Given the description of an element on the screen output the (x, y) to click on. 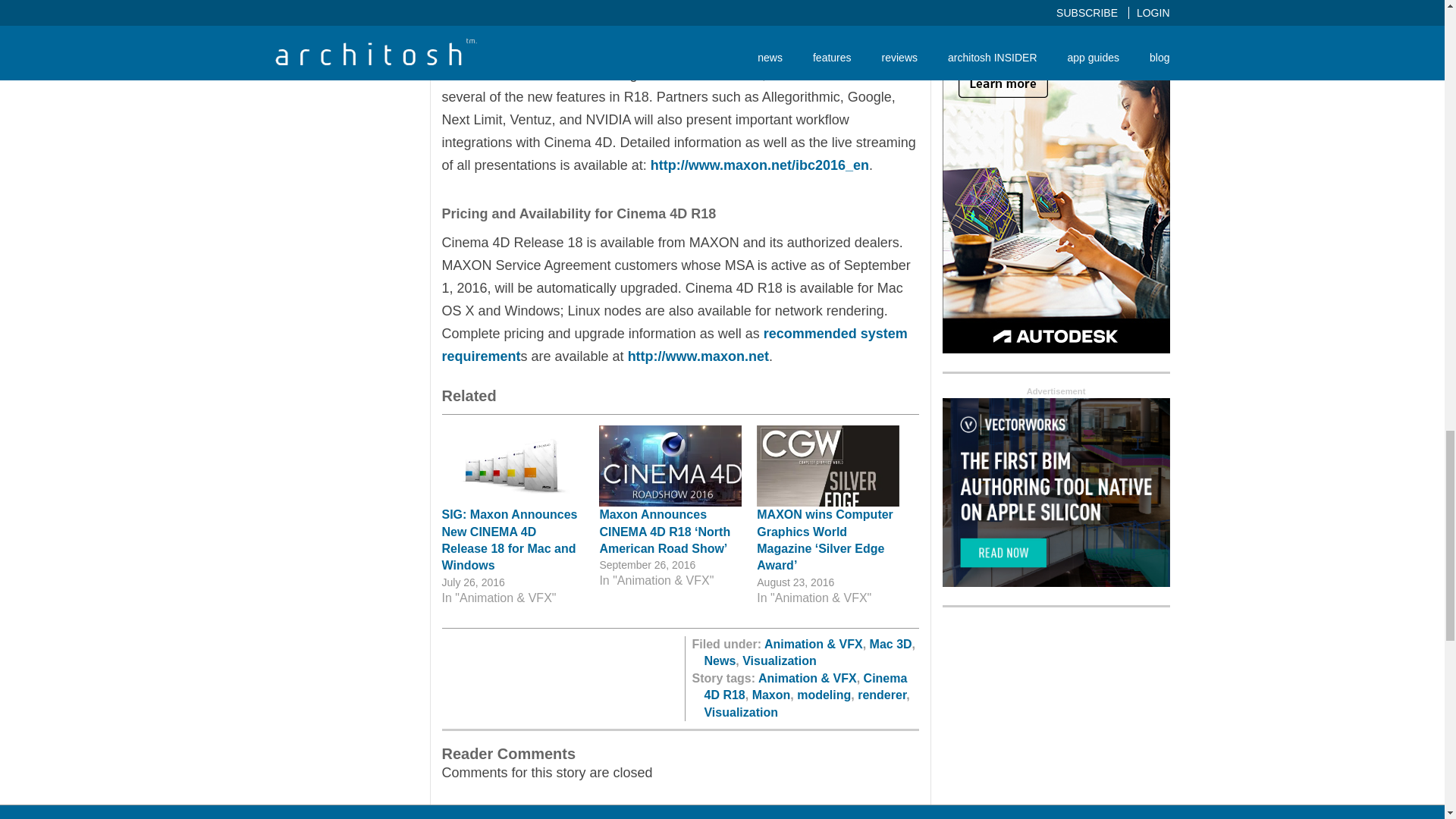
Versus (739, 73)
Mac 3D (890, 644)
recommended system requirement (674, 344)
